Given the description of an element on the screen output the (x, y) to click on. 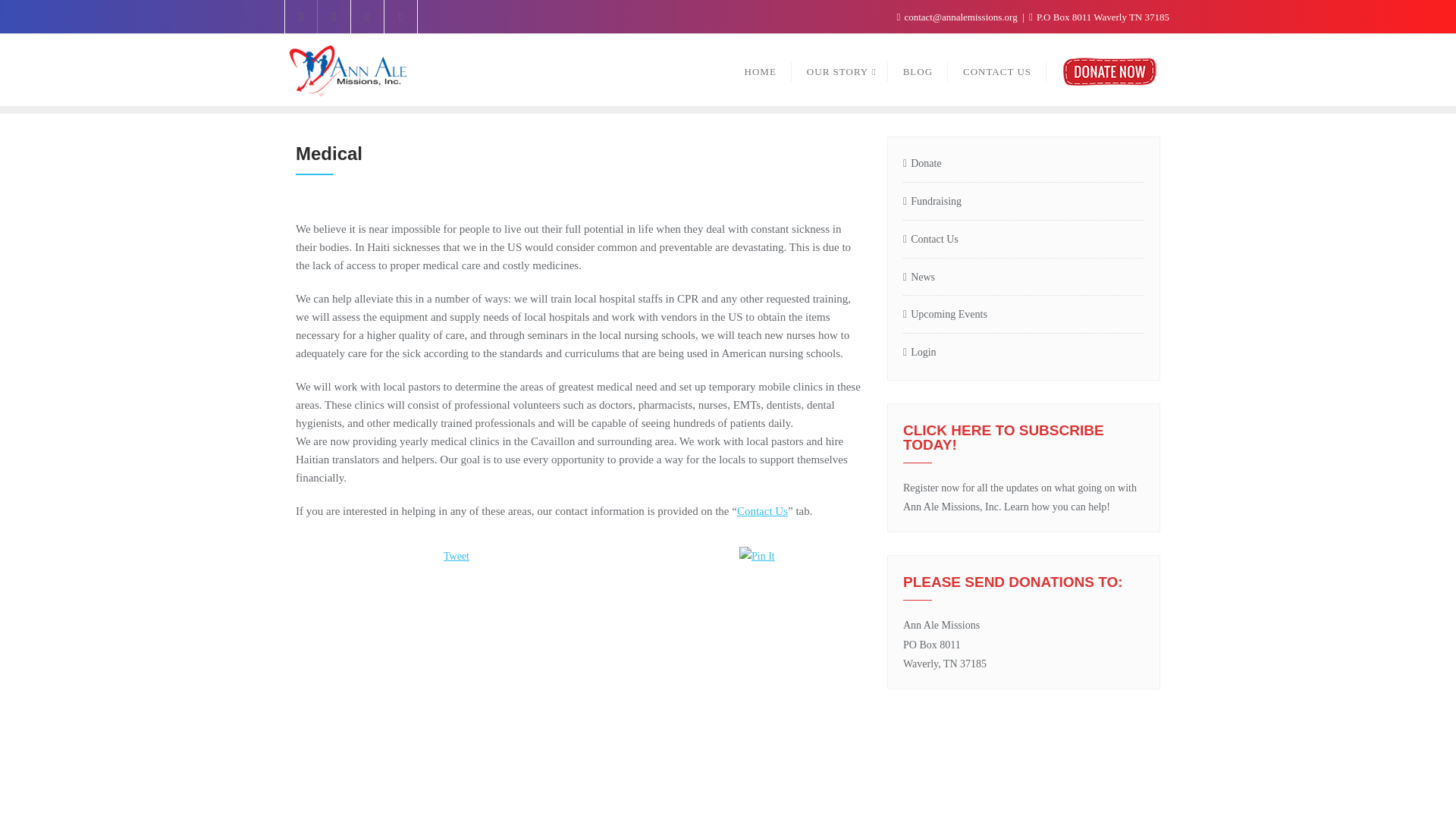
CONTACT US (996, 69)
OUR STORY (840, 69)
Contact Us (761, 510)
Login (1023, 352)
BLOG (917, 69)
Pin It (801, 556)
Donate (1023, 164)
Upcoming Events (1023, 314)
Contact Us (1023, 239)
CONTACT US (761, 510)
Tweet (456, 555)
DONATE (1109, 70)
HOME (760, 69)
News (1023, 277)
Fundraising (1023, 201)
